Given the description of an element on the screen output the (x, y) to click on. 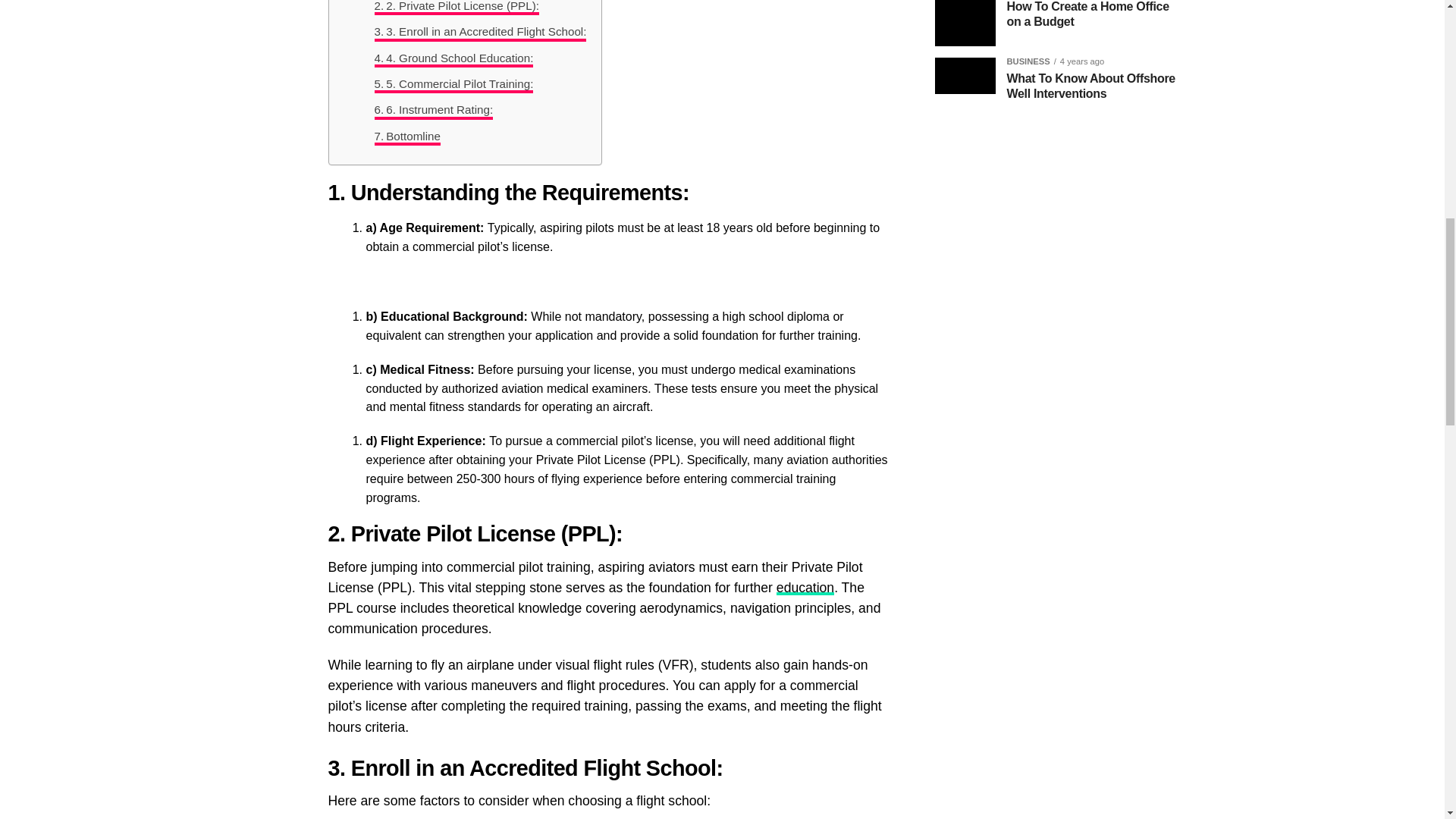
6. Instrument Rating: (433, 109)
4. Ground School Education: (454, 58)
5. Commercial Pilot Training: (454, 84)
Bottomline (407, 136)
3. Enroll in an Accredited Flight School: (480, 31)
